Given the description of an element on the screen output the (x, y) to click on. 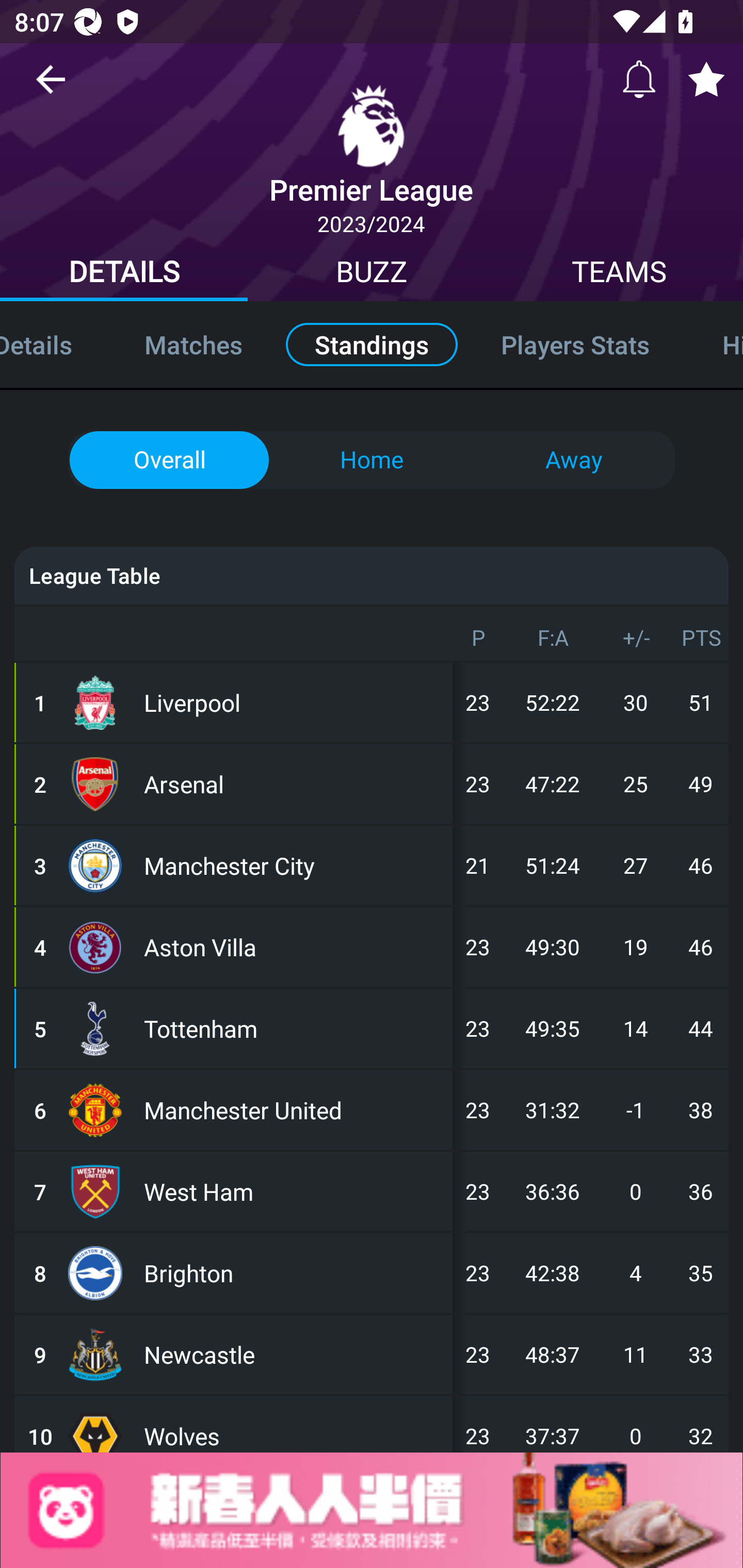
Navigate up (50, 86)
DETAILS (123, 274)
BUZZ (371, 274)
TEAMS (619, 274)
Details (54, 344)
Matches (193, 344)
Players Stats (575, 344)
History (714, 344)
Home (371, 460)
Away (573, 460)
League Table (371, 576)
1 Liverpool 23 52:22 30 51 (371, 702)
Liverpool (293, 702)
2 Arsenal 23 47:22 25 49 (371, 783)
Arsenal (293, 783)
3 Manchester City 21 51:24 27 46 (371, 865)
Manchester City (293, 865)
4 Aston Villa 23 49:30 19 46 (371, 946)
Aston Villa (293, 946)
5 Tottenham 23 49:35 14 44 (371, 1028)
Tottenham (293, 1028)
6 Manchester United 23 31:32 -1 38 (371, 1109)
Manchester United (293, 1109)
7 West Ham 23 36:36 0 36 (371, 1191)
West Ham (293, 1191)
8 Brighton 23 42:38 4 35 (371, 1273)
Brighton (293, 1273)
9 Newcastle 23 48:37 11 33 (371, 1353)
Newcastle (293, 1353)
10 Wolves 23 37:37 0 32 (371, 1423)
Wolves (293, 1423)
Advertisement (371, 1509)
